Given the description of an element on the screen output the (x, y) to click on. 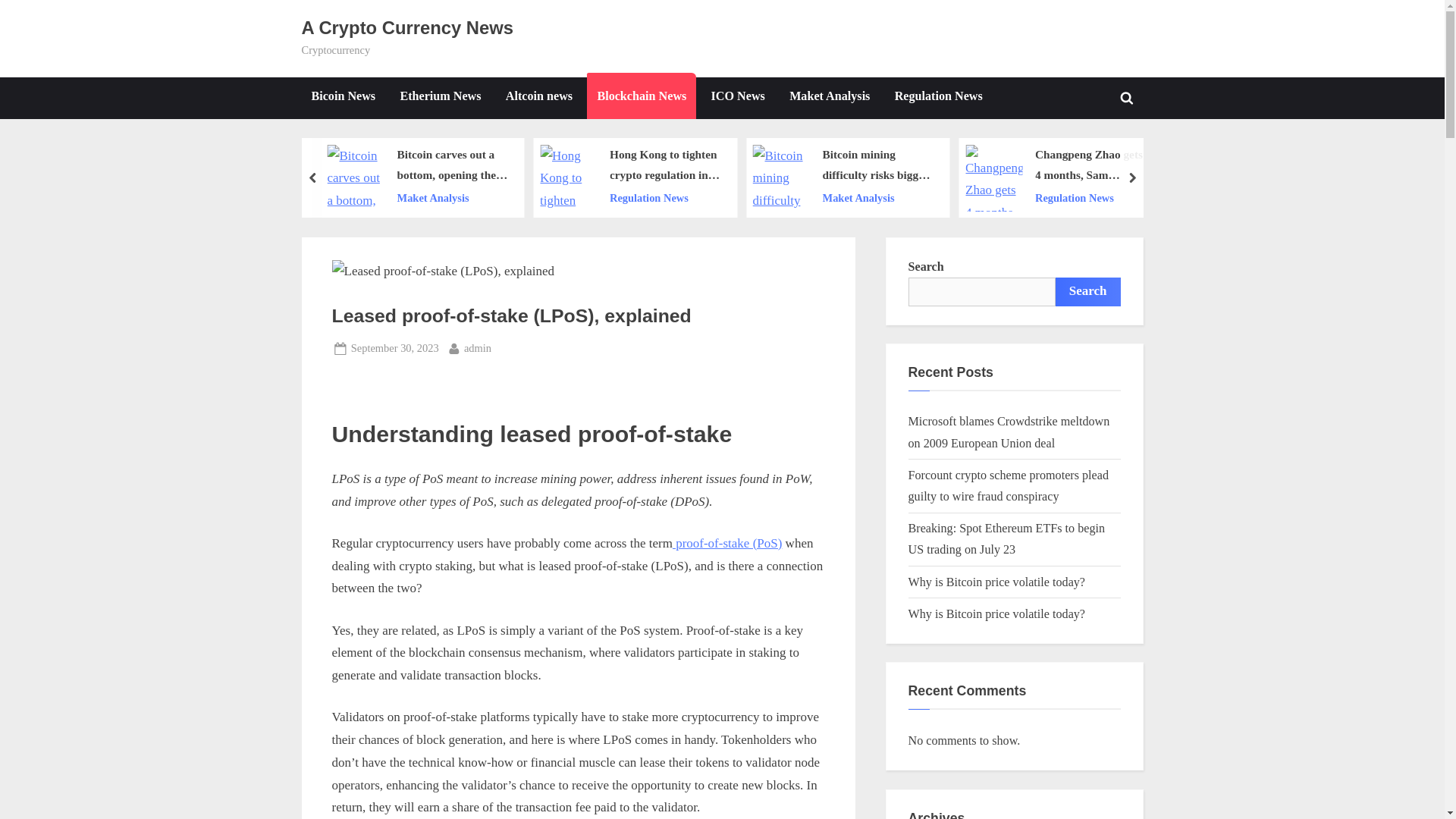
Regulation News (938, 97)
Maket Analysis (452, 198)
ICO News (737, 97)
Toggle search form (1126, 97)
Maket Analysis (877, 198)
Maket Analysis (828, 97)
Altcoin news (539, 97)
A Crypto Currency News (407, 27)
Bicoin News (343, 97)
Regulation News (665, 198)
Etherium News (440, 97)
Regulation News (1089, 198)
Blockchain News (640, 97)
